Given the description of an element on the screen output the (x, y) to click on. 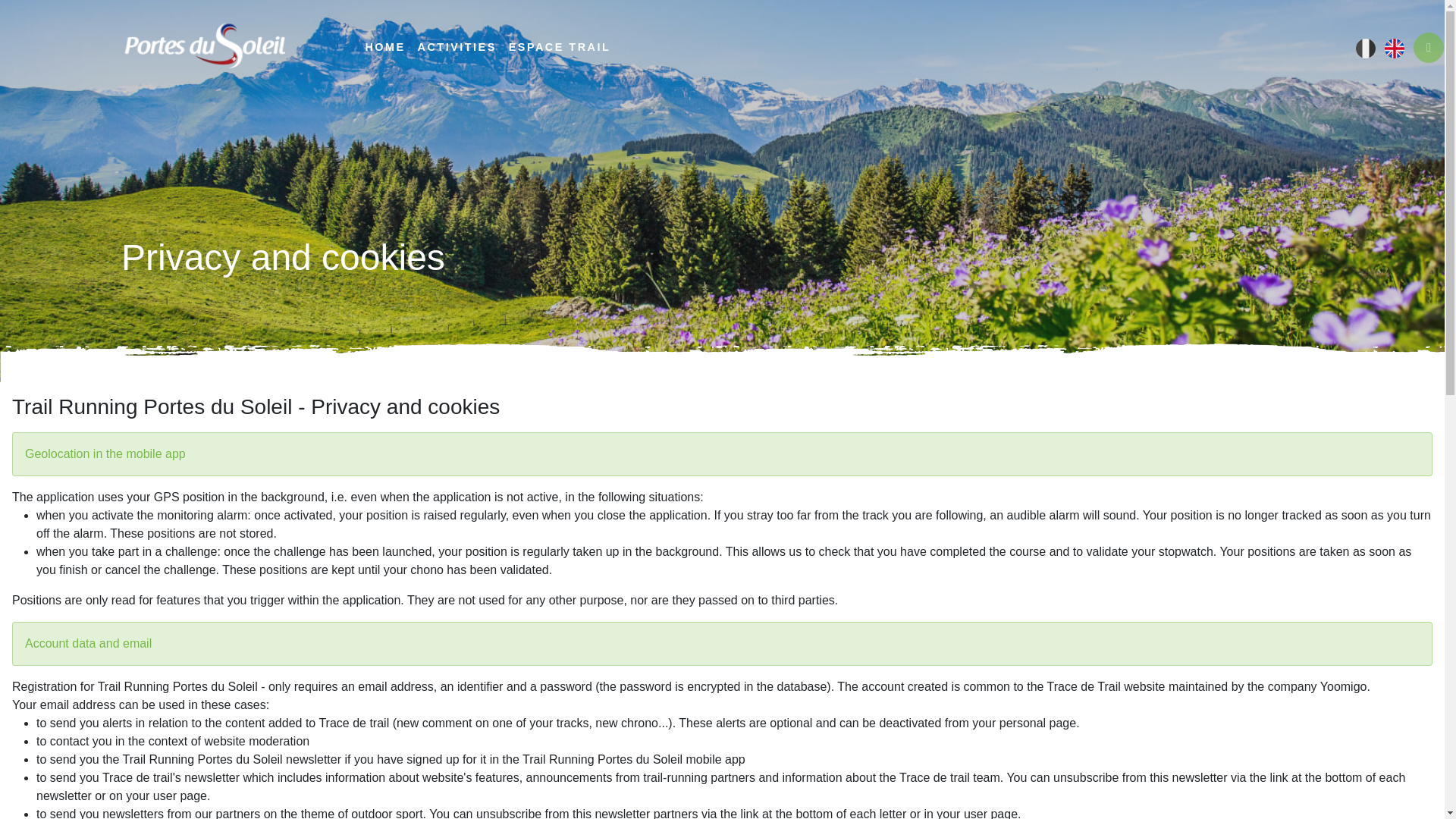
HOME (384, 47)
Log in (1428, 47)
ESPACE TRAIL (558, 47)
ACTIVITIES (457, 47)
